Given the description of an element on the screen output the (x, y) to click on. 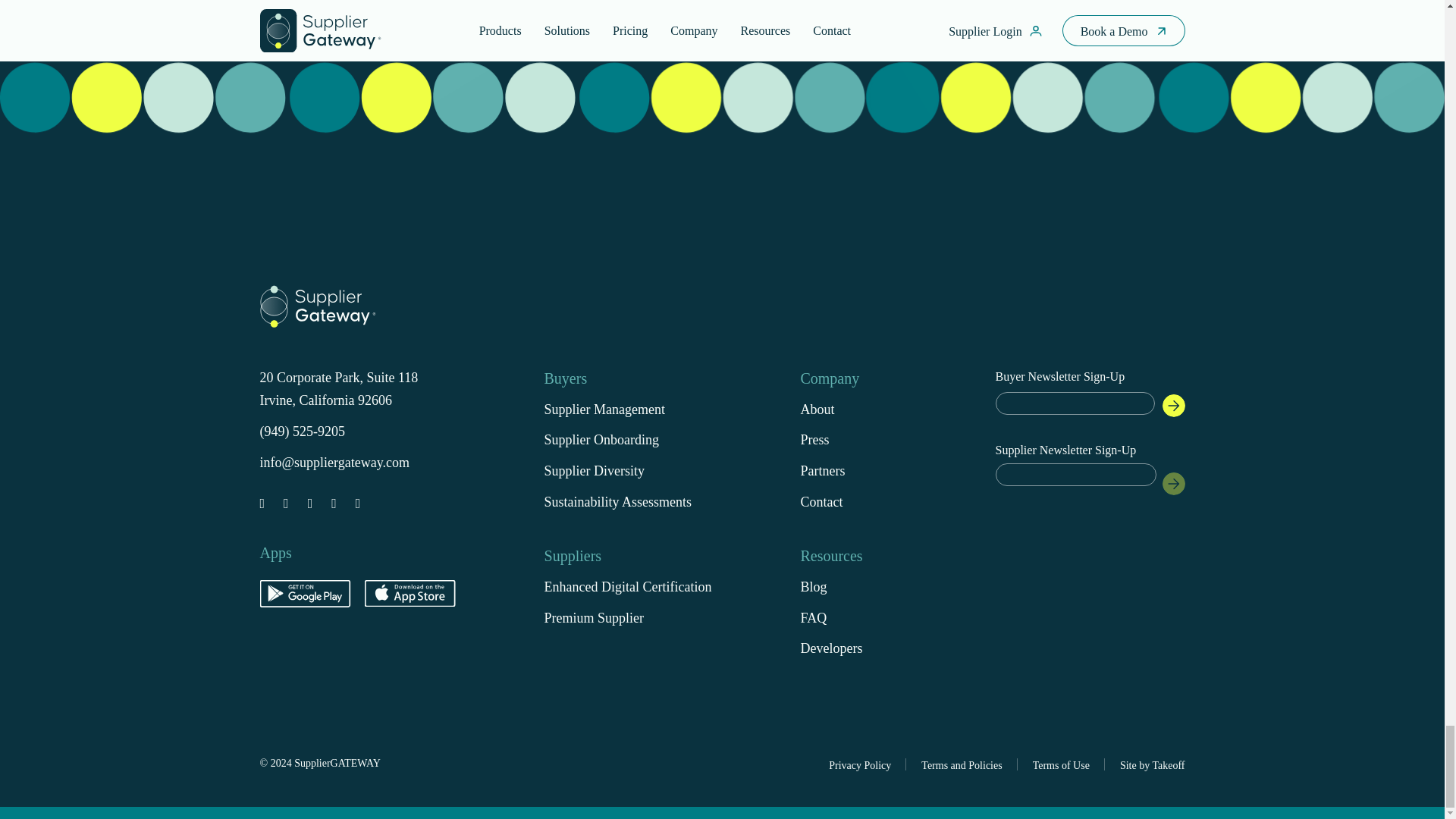
Submit (1173, 404)
